Given the description of an element on the screen output the (x, y) to click on. 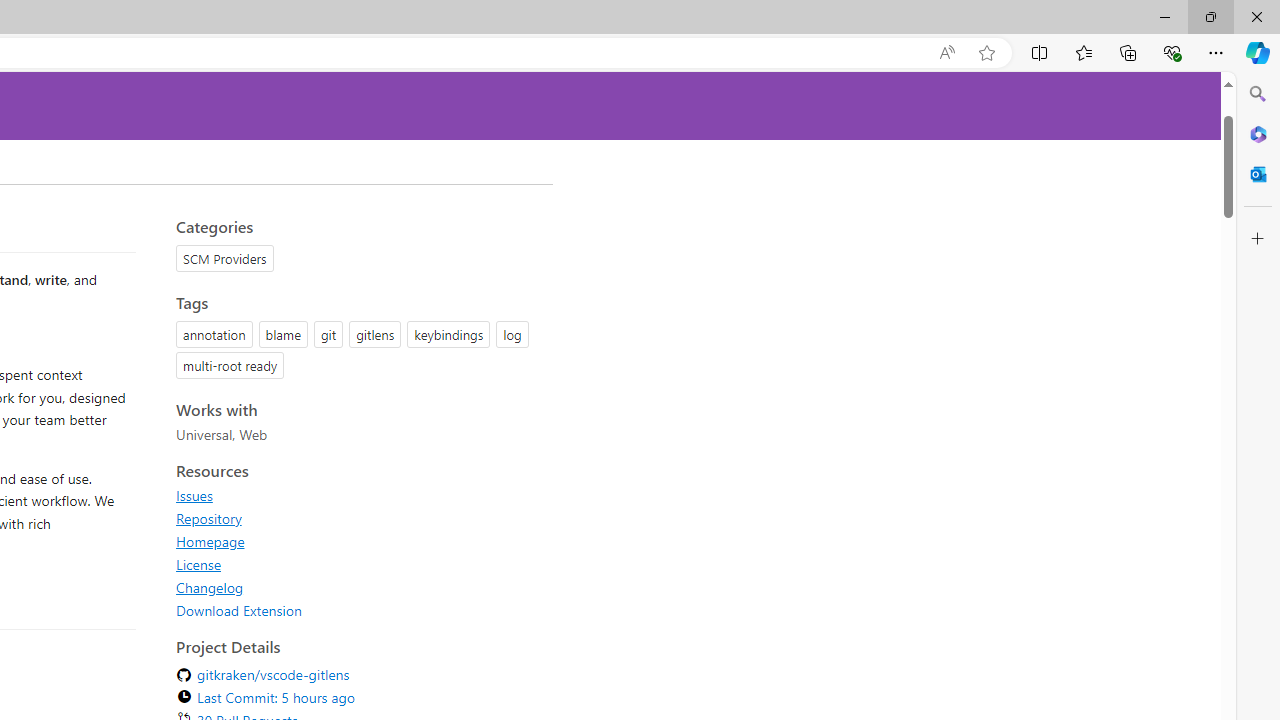
Changelog (358, 587)
Download Extension (358, 610)
Repository (208, 518)
Homepage (210, 541)
Issues (358, 495)
